Given the description of an element on the screen output the (x, y) to click on. 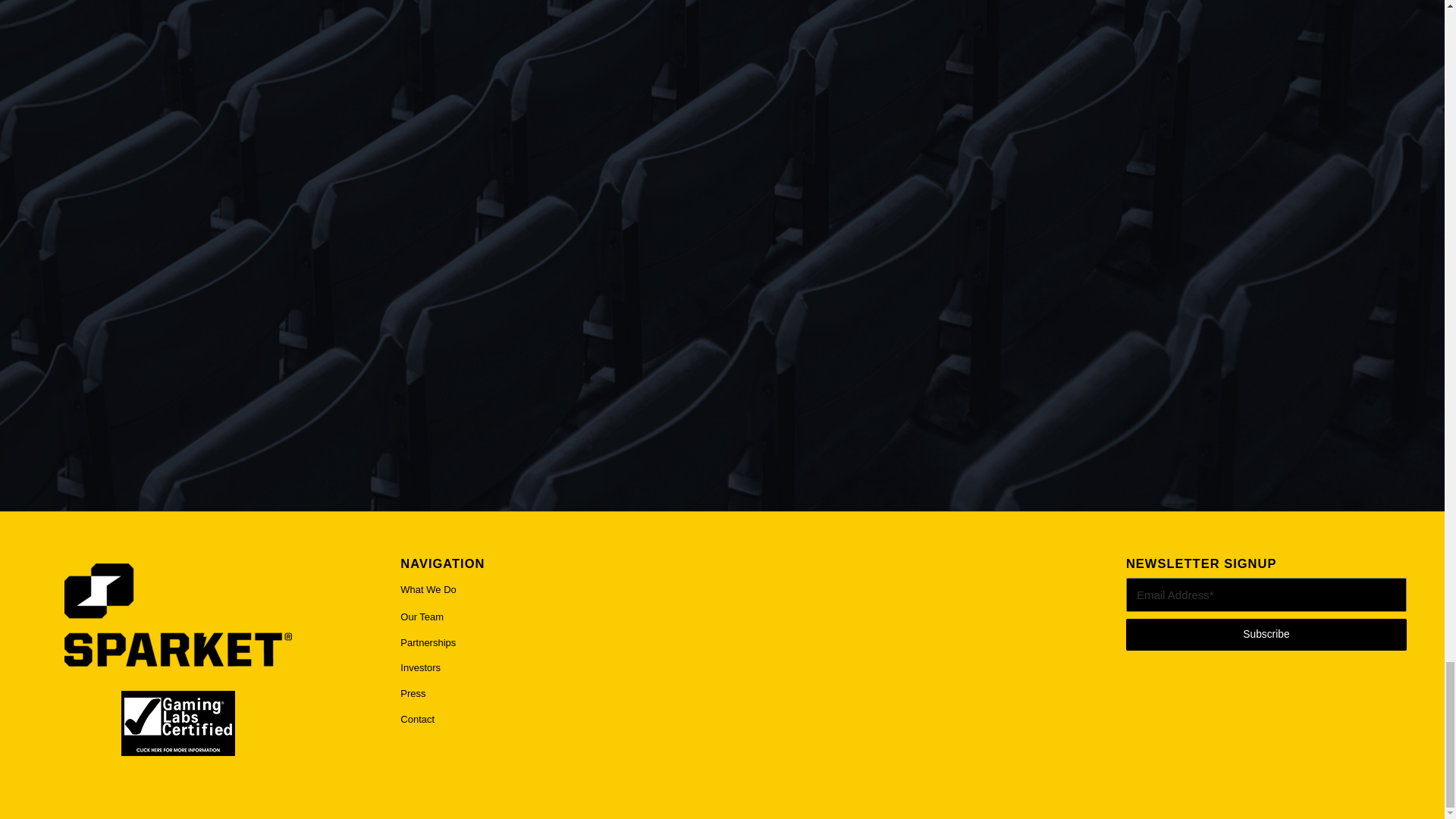
What We Do (540, 590)
Subscribe (1265, 634)
Our Team (540, 617)
Subscribe (1265, 634)
Press (540, 694)
Contact (540, 720)
Partnerships (540, 643)
Investors (540, 668)
